Given the description of an element on the screen output the (x, y) to click on. 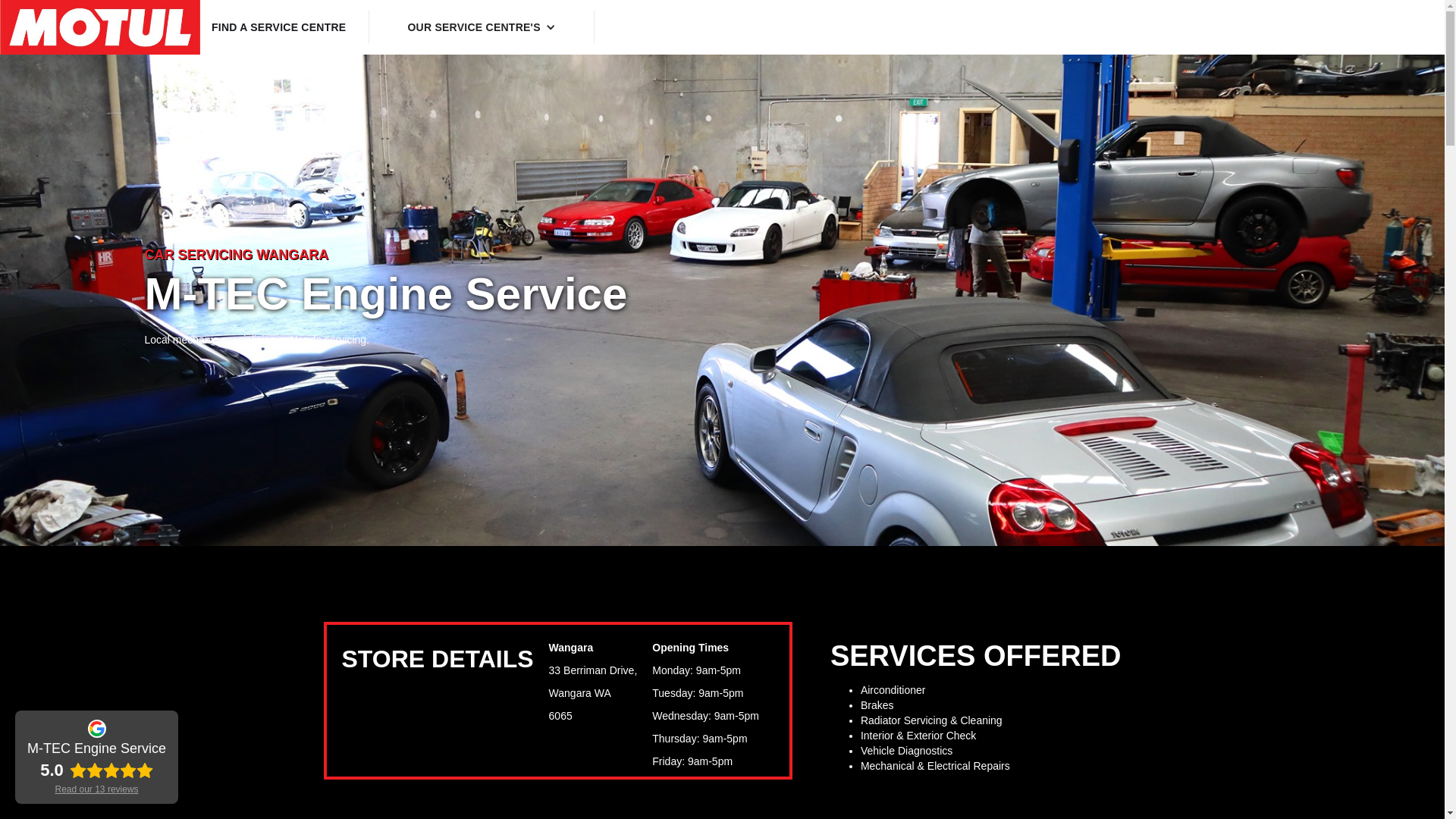
FIND A SERVICE CENTRE (278, 26)
